Given the description of an element on the screen output the (x, y) to click on. 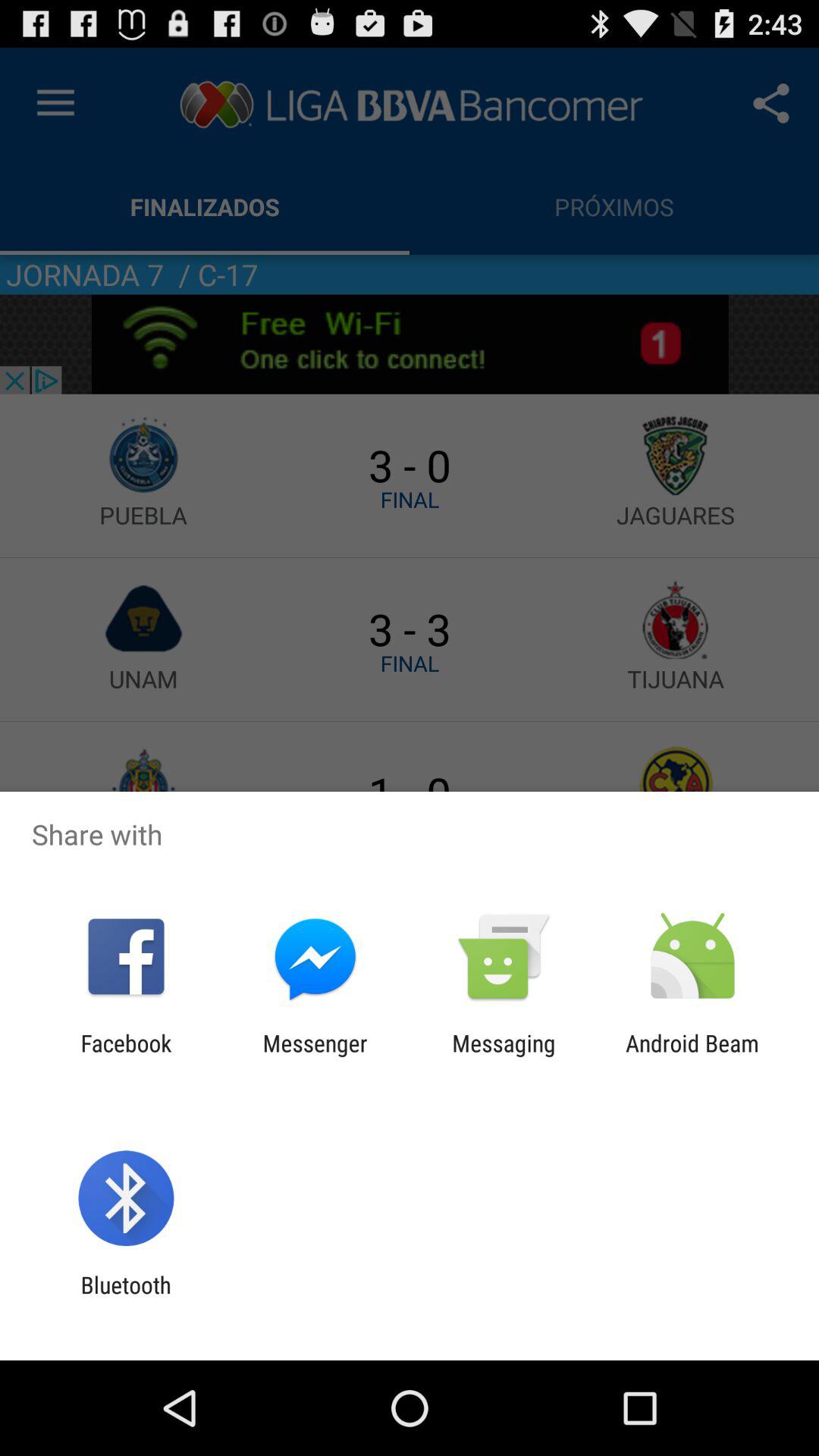
tap app to the left of messenger app (125, 1056)
